Given the description of an element on the screen output the (x, y) to click on. 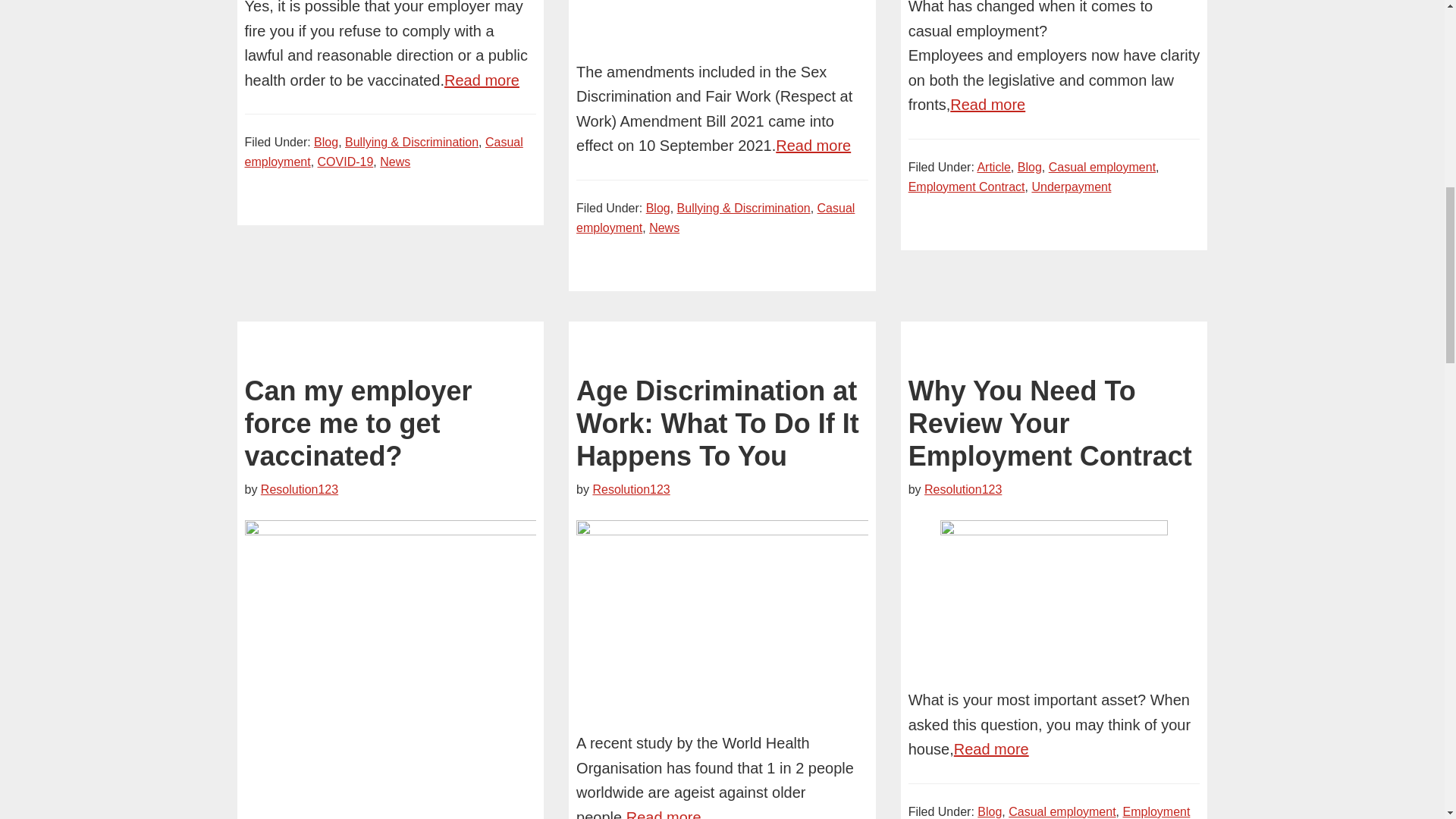
Casual employment (383, 151)
Read more (813, 145)
Blog (325, 141)
COVID-19 (345, 161)
News (395, 161)
Read more (481, 80)
Blog (657, 207)
News (664, 227)
Casual employment (715, 217)
